Given the description of an element on the screen output the (x, y) to click on. 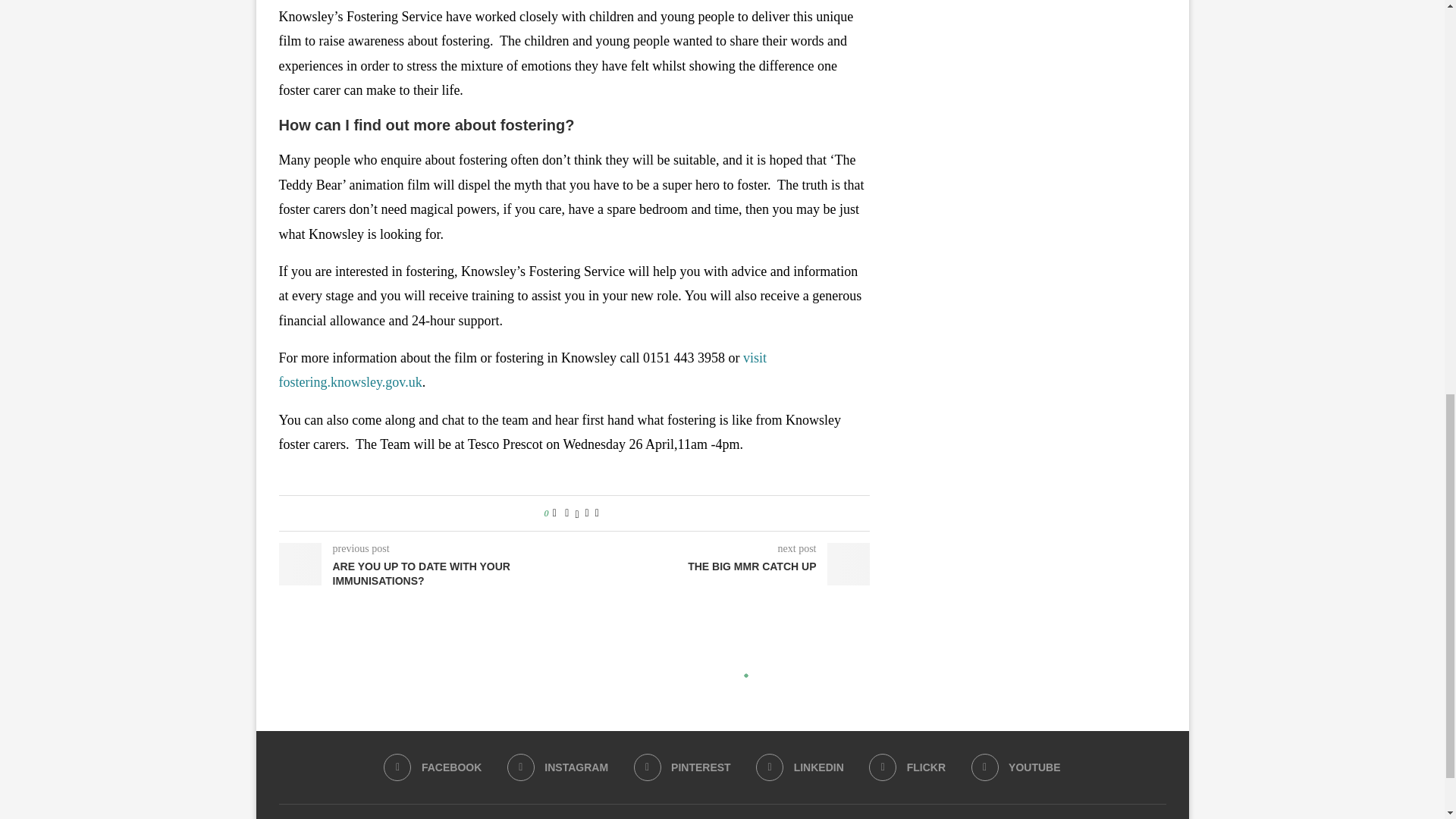
INSTAGRAM (557, 767)
visit fostering.knowsley.gov.uk (523, 369)
THE BIG MMR CATCH UP (722, 566)
PINTEREST (681, 767)
ARE YOU UP TO DATE WITH YOUR IMMUNISATIONS? (427, 573)
FLICKR (906, 767)
LINKEDIN (799, 767)
FACEBOOK (432, 767)
YOUTUBE (1016, 767)
